Given the description of an element on the screen output the (x, y) to click on. 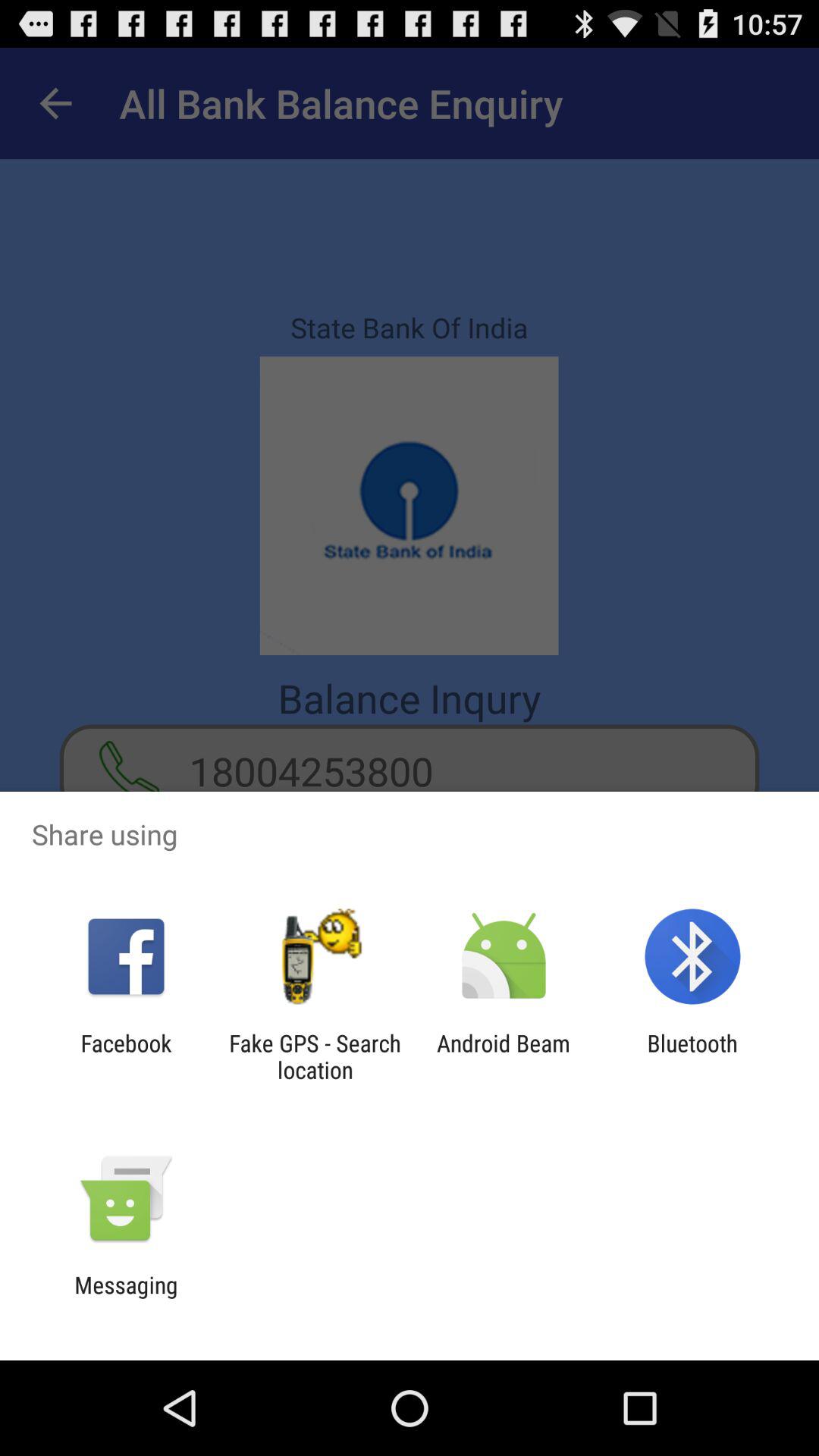
select app next to the fake gps search item (125, 1056)
